Given the description of an element on the screen output the (x, y) to click on. 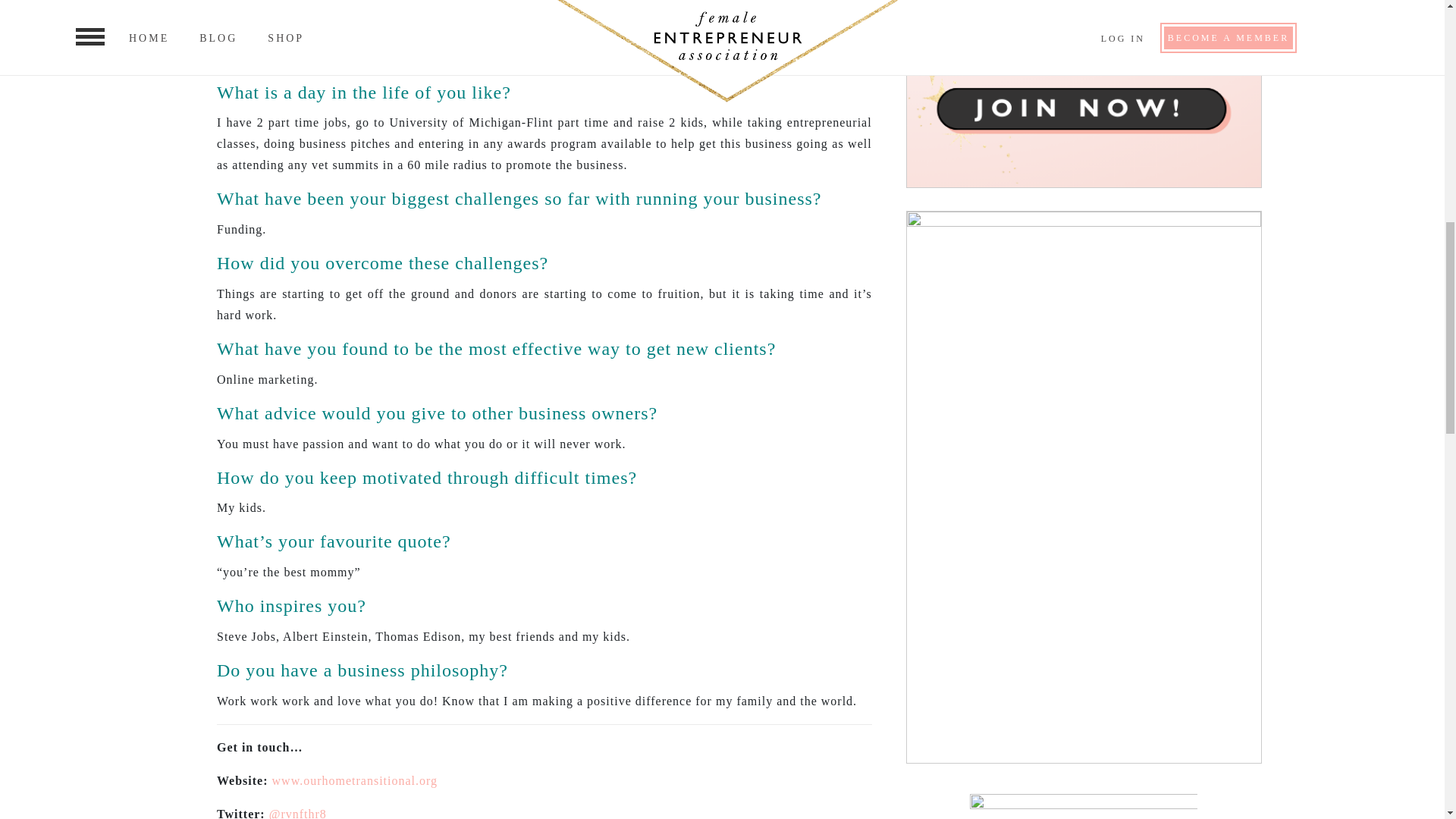
www.ourhometransitional.org (355, 780)
